Given the description of an element on the screen output the (x, y) to click on. 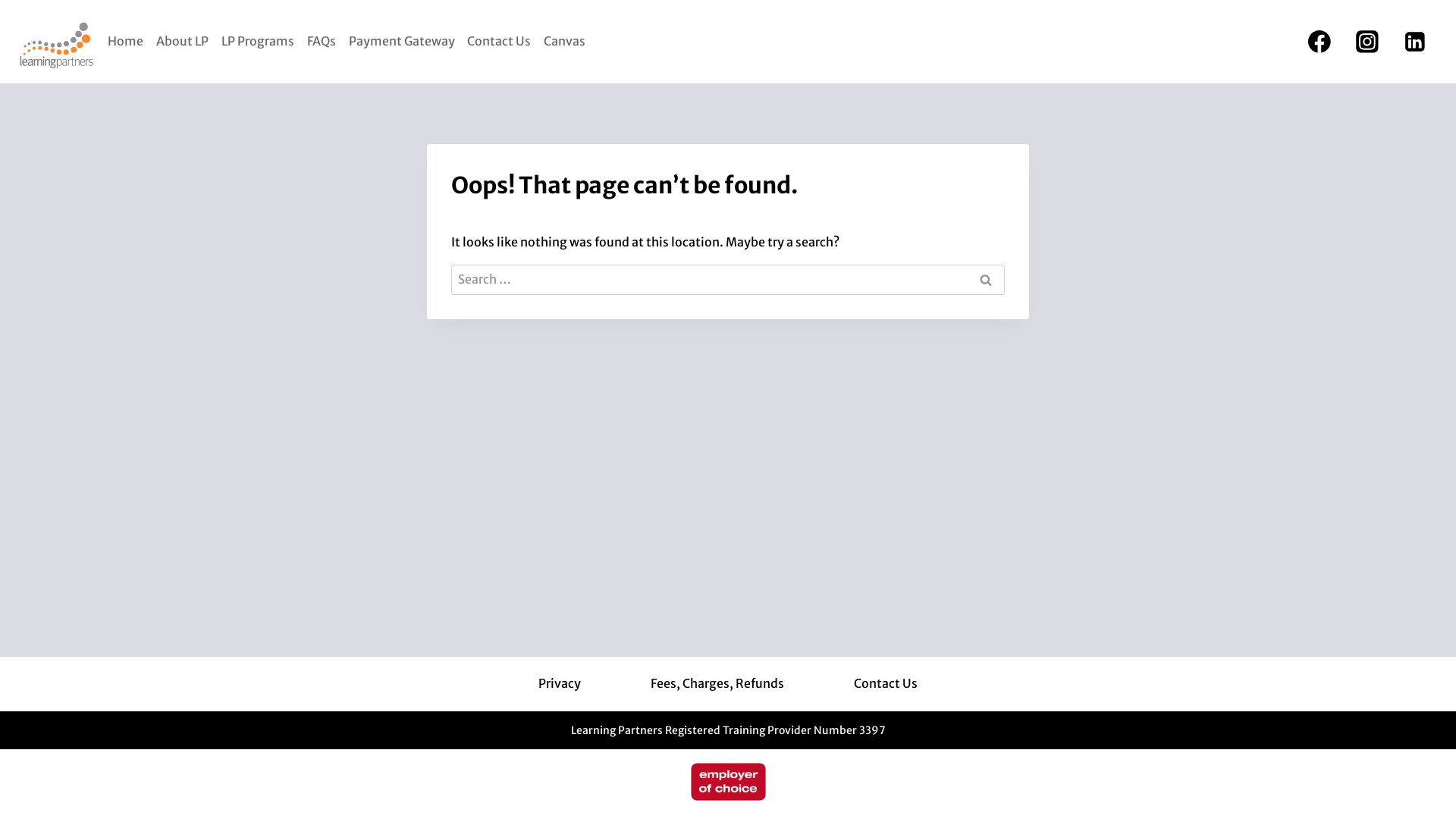
Fees, Charges, Refunds Element type: text (716, 683)
Payment Gateway Element type: text (401, 41)
Privacy Element type: text (559, 683)
Contact Us Element type: text (499, 41)
About LP Element type: text (182, 41)
Canvas Element type: text (564, 41)
FAQs Element type: text (321, 41)
Contact Us Element type: text (885, 683)
Search Element type: text (985, 279)
LP Programs Element type: text (258, 41)
Home Element type: text (125, 41)
